Given the description of an element on the screen output the (x, y) to click on. 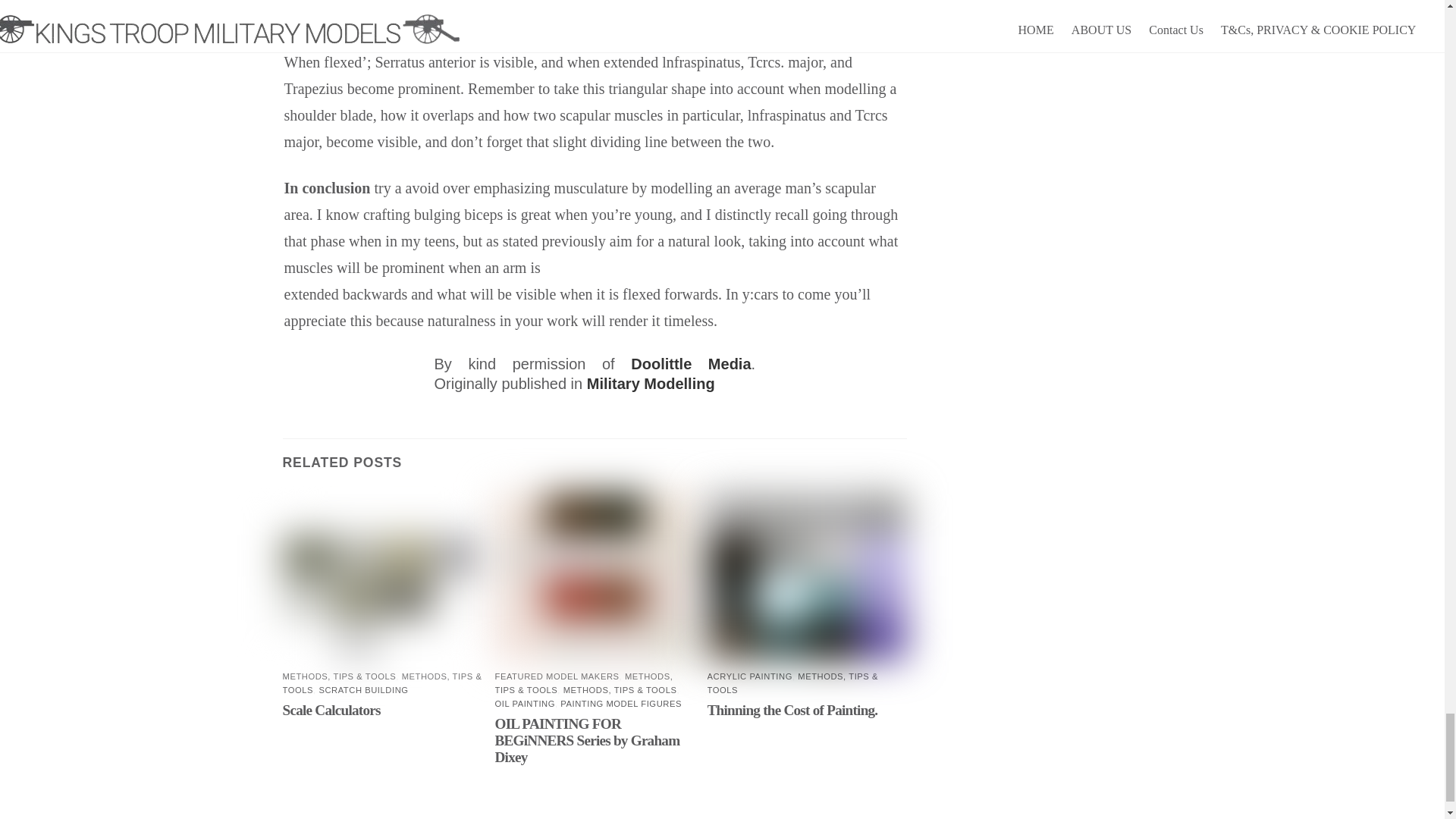
Scale Calculators (331, 709)
Slide1 (381, 576)
SCRATCH BUILDING (362, 689)
Doolittle Media (690, 363)
Thinning the Cost of Painting. (792, 709)
ACRYLIC PAINTING (749, 675)
OIL PAINTING FOR BEGiNNERS Series by Graham Dixey (587, 739)
PAINTING MODEL FIGURES (620, 703)
FEATURED MODEL MAKERS (557, 675)
Military Modelling (650, 383)
